Given the description of an element on the screen output the (x, y) to click on. 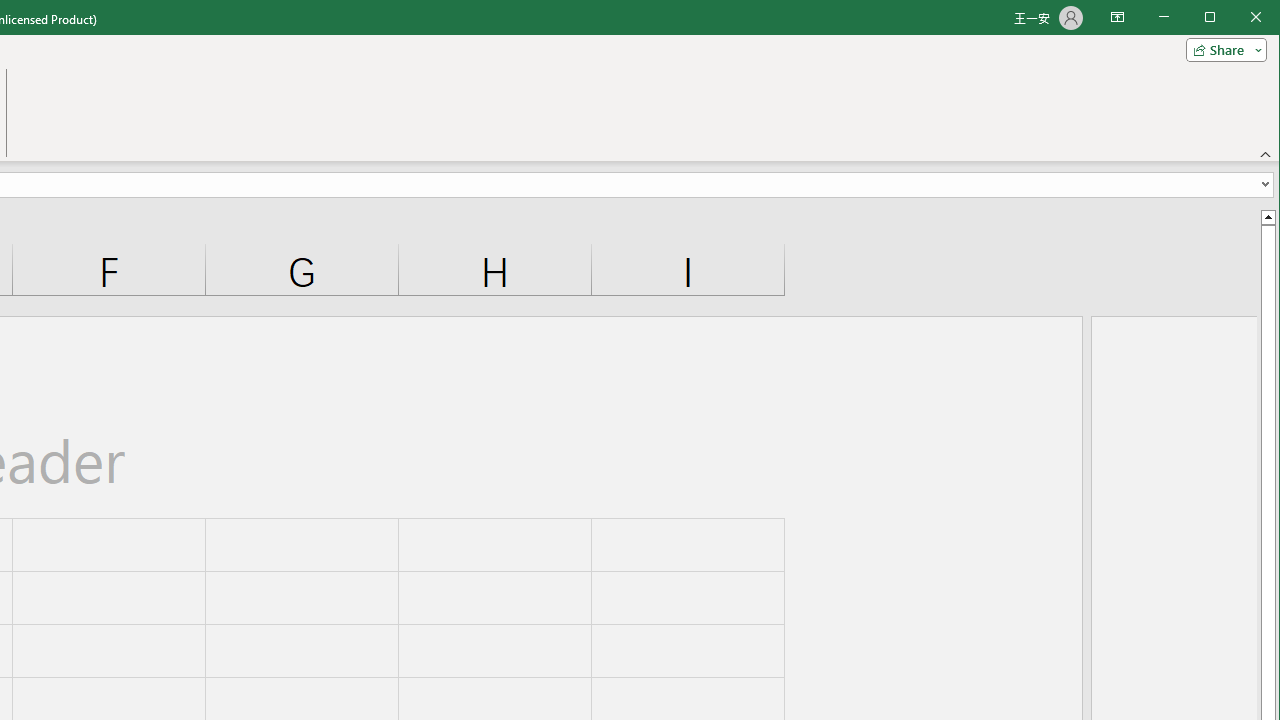
Maximize (1238, 18)
